Given the description of an element on the screen output the (x, y) to click on. 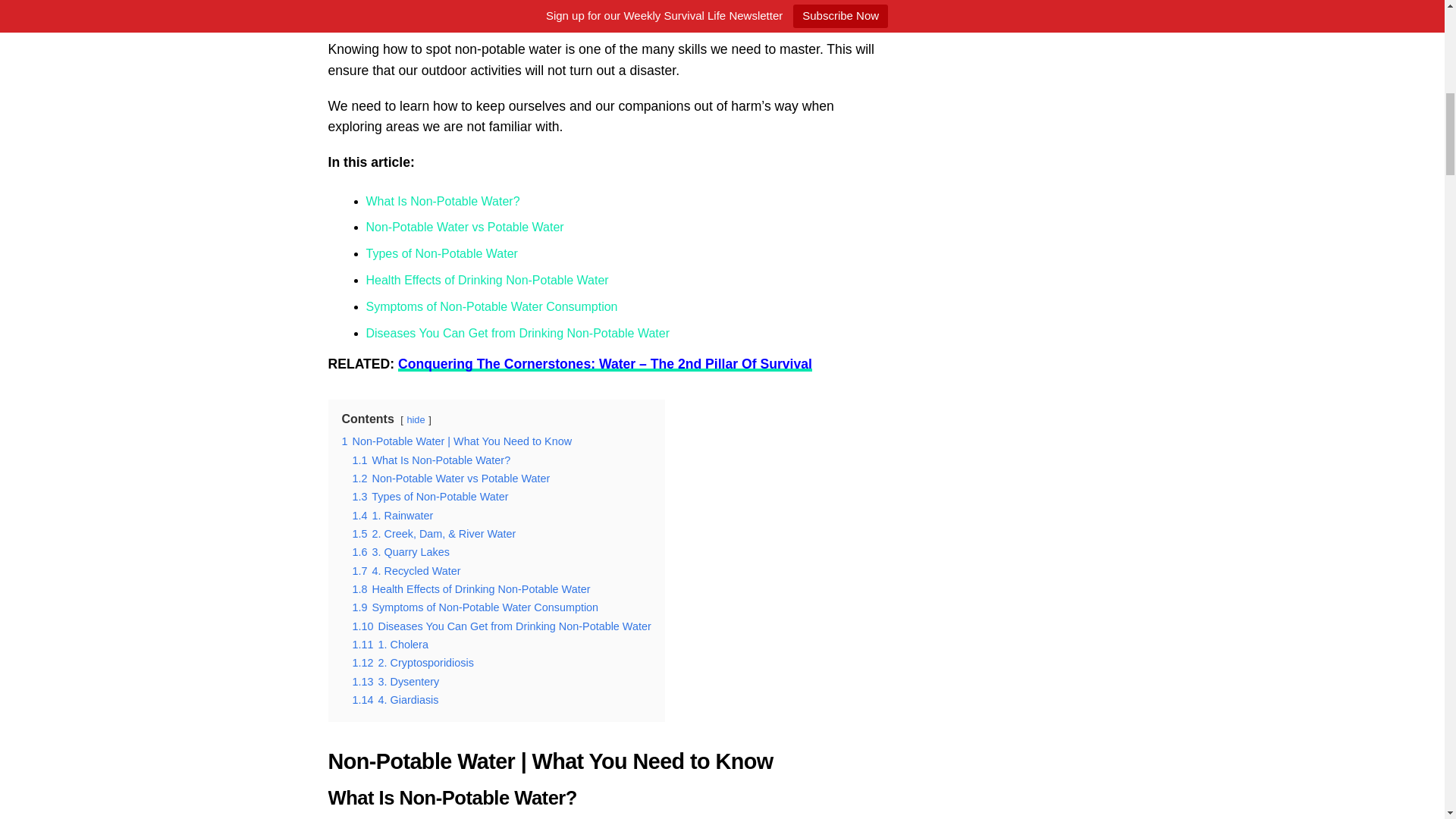
Types of Non-Potable Water (440, 253)
What Is Non-Potable Water? (442, 201)
Non-Potable Water vs Potable Water (464, 226)
Health Effects of Drinking Non-Potable Water (486, 279)
